Given the description of an element on the screen output the (x, y) to click on. 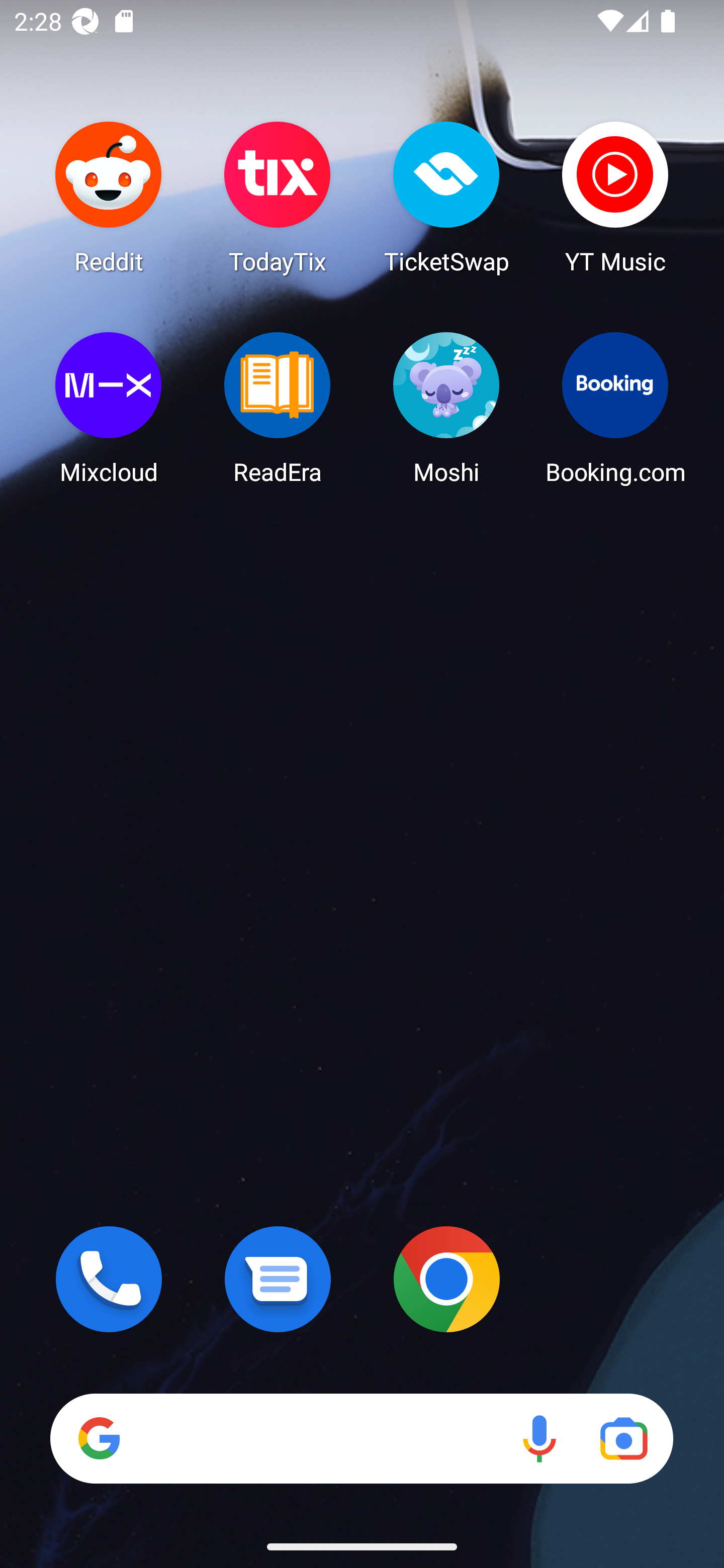
Reddit (108, 196)
TodayTix (277, 196)
TicketSwap (445, 196)
YT Music (615, 196)
Mixcloud (108, 407)
ReadEra (277, 407)
Moshi (445, 407)
Booking.com (615, 407)
Phone (108, 1279)
Messages (277, 1279)
Chrome (446, 1279)
Search Voice search Google Lens (361, 1438)
Voice search (539, 1438)
Google Lens (623, 1438)
